Given the description of an element on the screen output the (x, y) to click on. 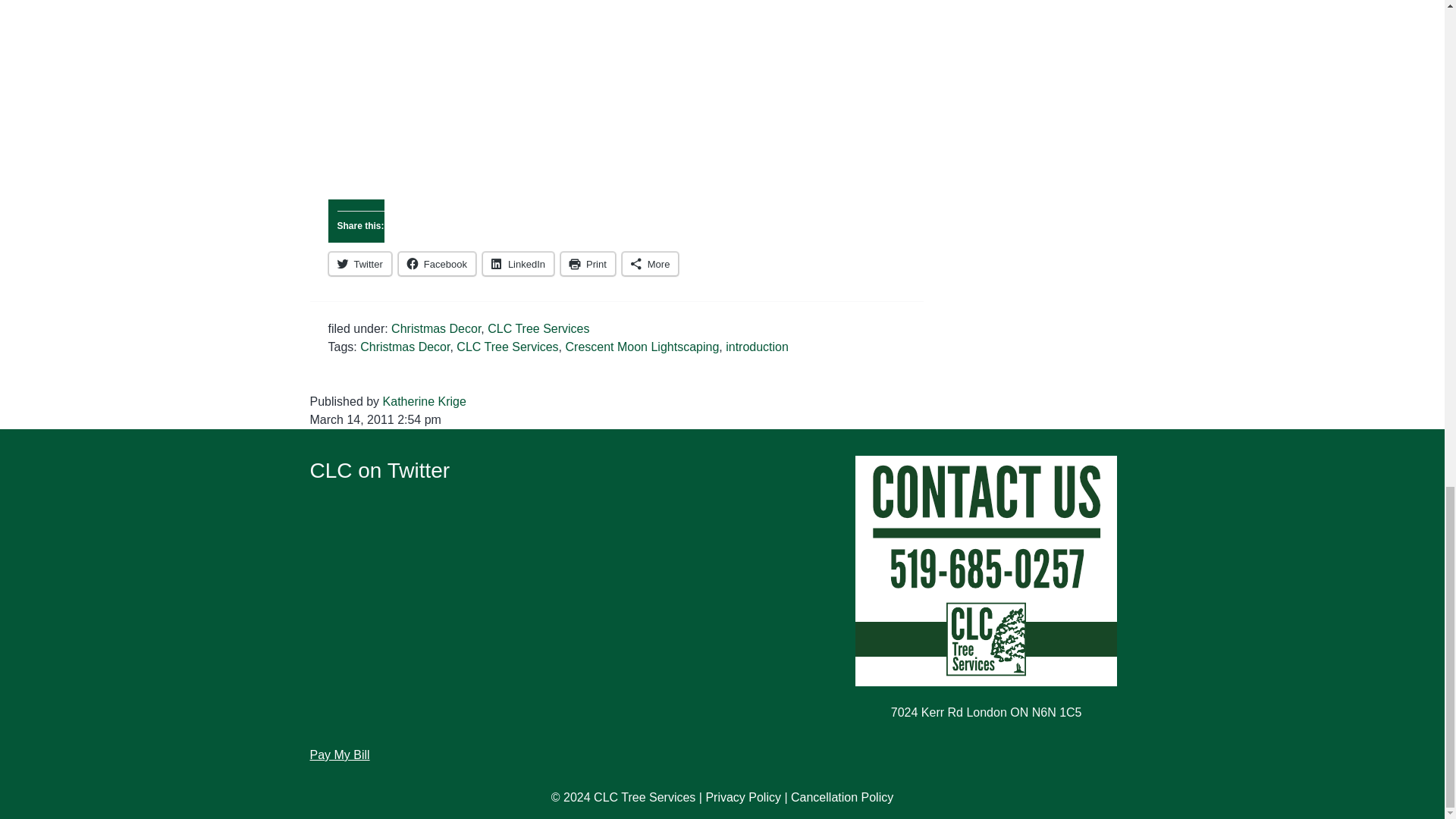
LinkedIn (517, 263)
Posts by Katherine Krige (423, 400)
Click to share on LinkedIn (517, 263)
Click to share on Twitter (359, 263)
Privacy Policy (742, 797)
Cancellation Policy (841, 797)
Twitter (359, 263)
Facebook (436, 263)
Click to print (587, 263)
Some of the Crew (616, 90)
